Given the description of an element on the screen output the (x, y) to click on. 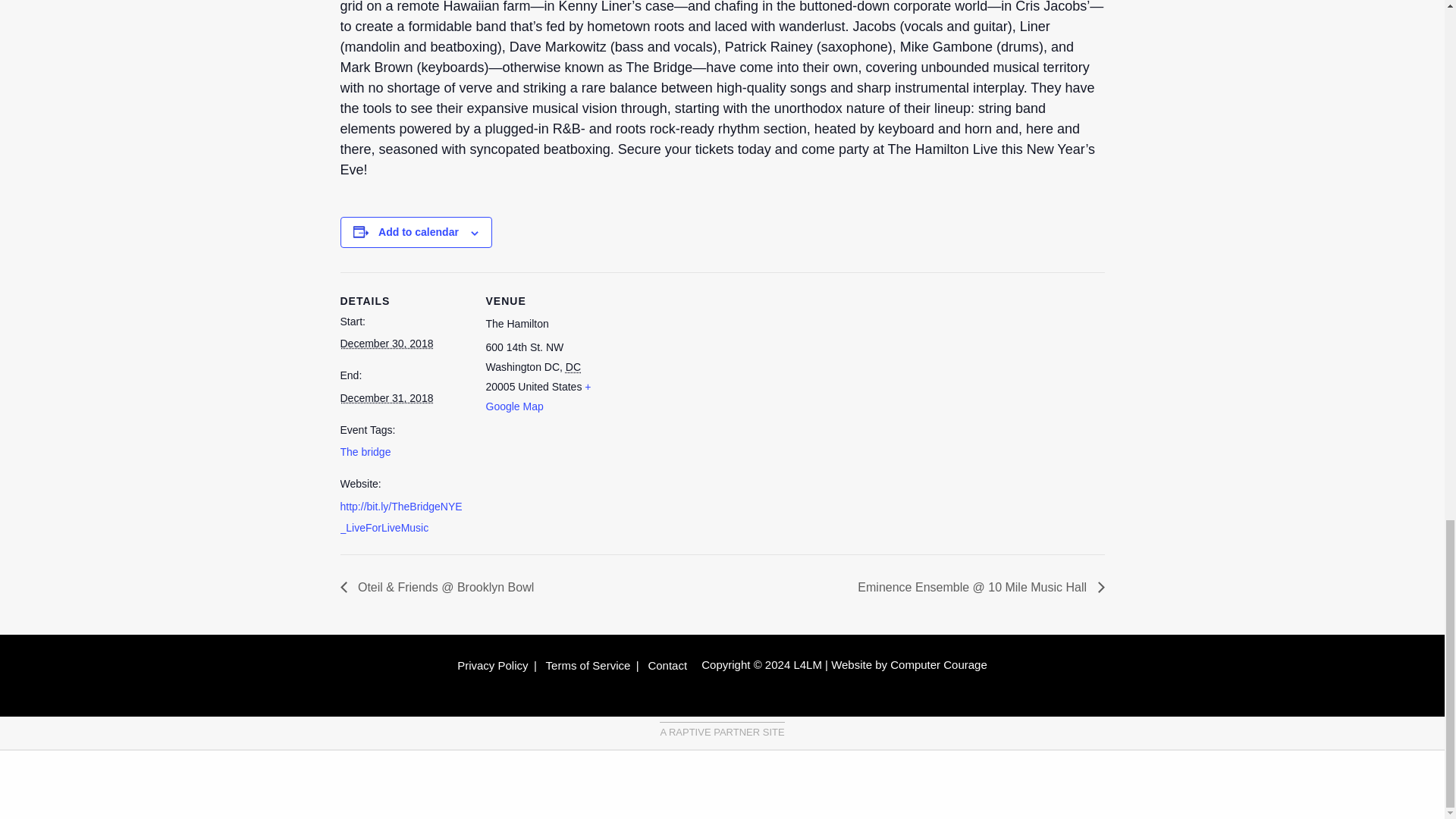
2018-12-30 (385, 343)
Add to calendar (418, 232)
Privacy Policy (492, 665)
Contact (667, 665)
2019-01-01 (385, 398)
The bridge (364, 451)
District of Columbia (573, 367)
Google maps iframe displaying the address to The Hamilton (710, 377)
Website by Computer Courage (909, 664)
Click to view a Google Map (537, 396)
Terms of Service (588, 665)
